Given the description of an element on the screen output the (x, y) to click on. 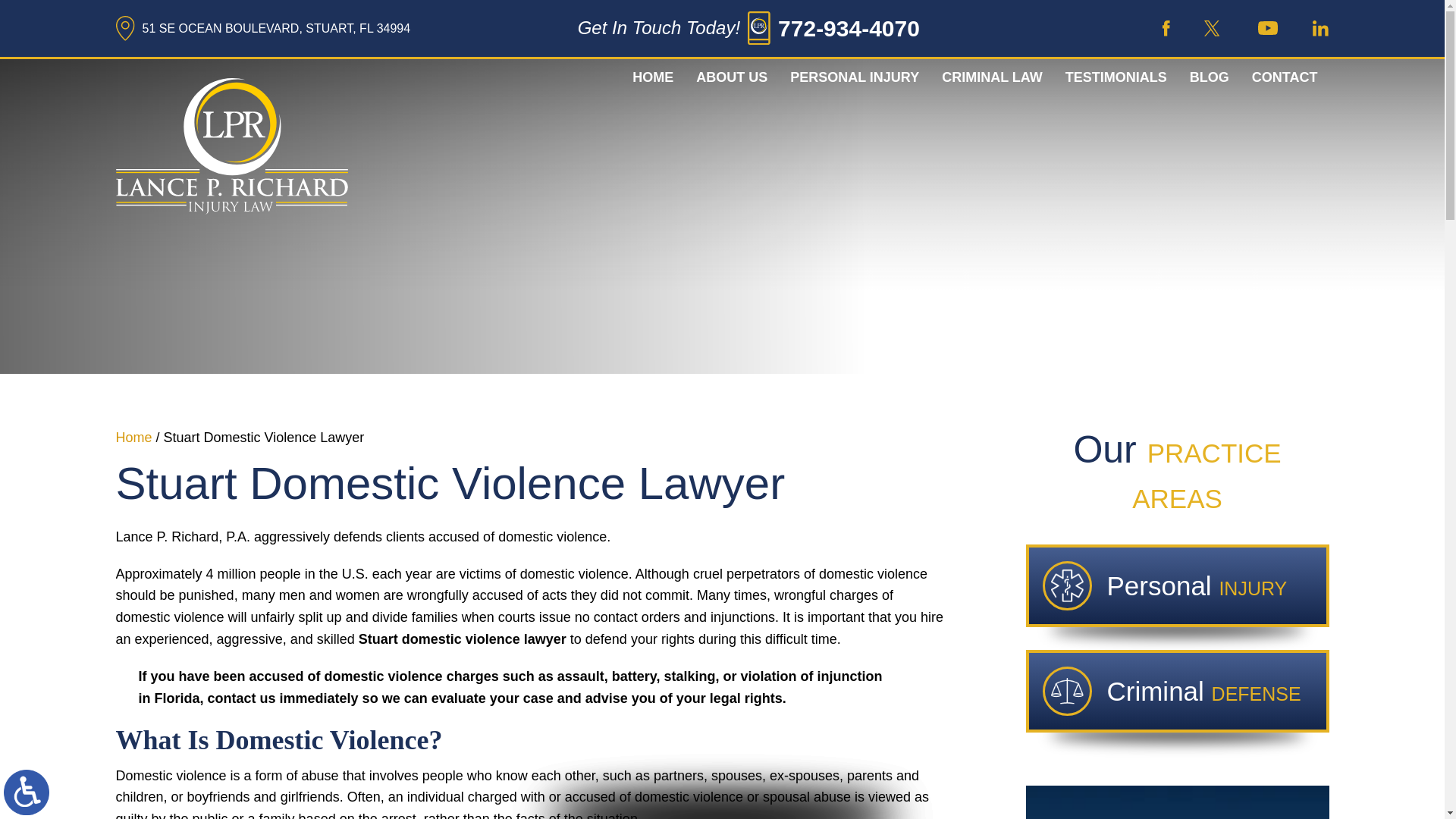
51 SE OCEAN BOULEVARD, STUART, FL 34994 (262, 27)
HOME (652, 76)
ABOUT US (731, 76)
Switch to ADA Accessible Theme (26, 791)
772-934-4070 (848, 28)
PERSONAL INJURY (854, 76)
